Given the description of an element on the screen output the (x, y) to click on. 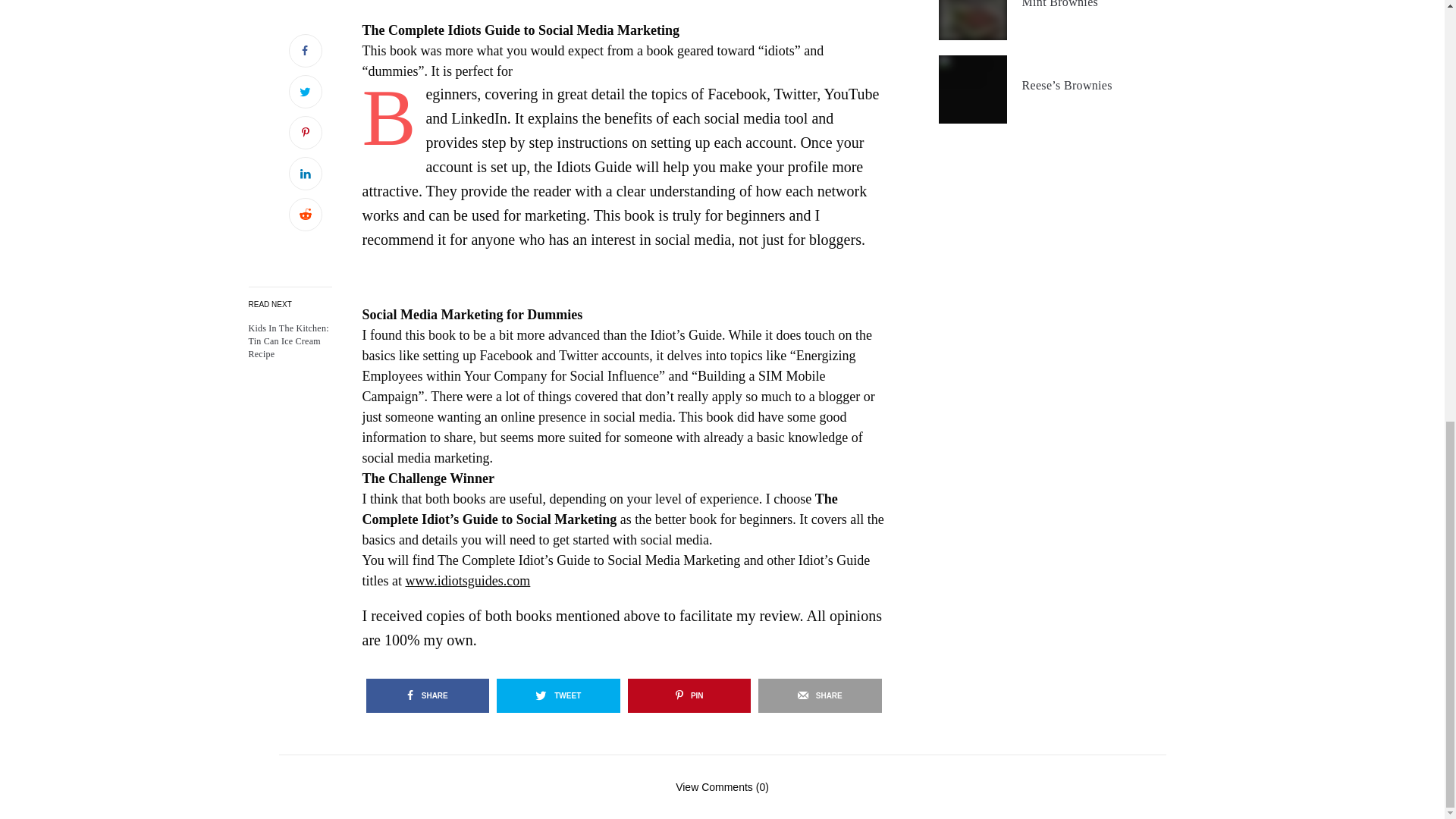
PIN (689, 695)
The Idiots vs. The Dummies Challenge: Social Media Marketing (289, 341)
Mint Brownies (1060, 5)
Kids In The Kitchen: Tin Can Ice Cream Recipe (289, 341)
www.idiotsguides.com (466, 580)
Mint Brownies (1060, 5)
SHARE (427, 695)
SHARE (820, 695)
TWEET (558, 695)
